Given the description of an element on the screen output the (x, y) to click on. 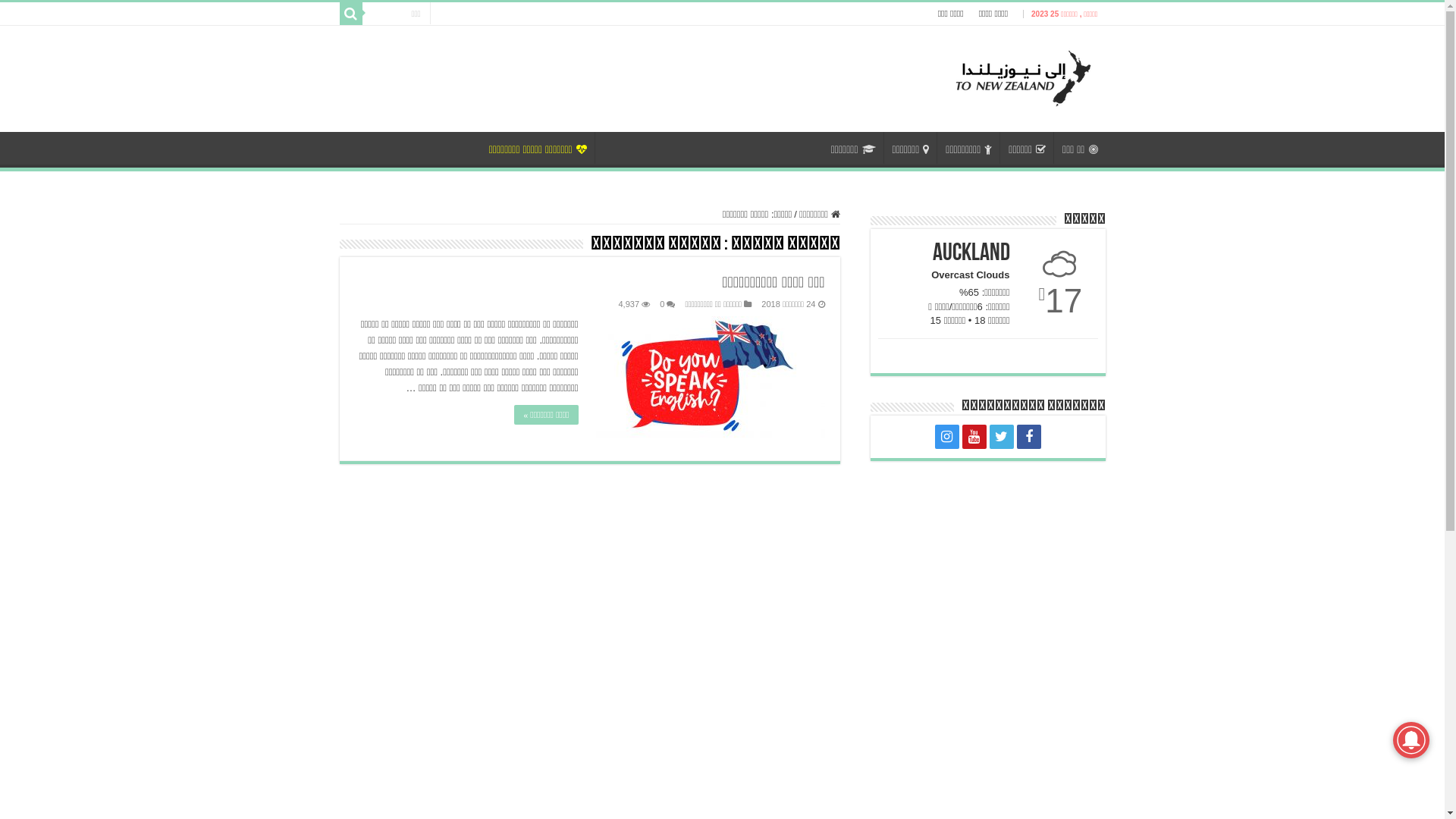
0 Element type: text (661, 303)
Advertisement Element type: hover (987, 574)
instagram Element type: hover (946, 436)
Facebook Element type: hover (1028, 436)
Youtube Element type: hover (973, 436)
Twitter Element type: hover (1000, 436)
